Given the description of an element on the screen output the (x, y) to click on. 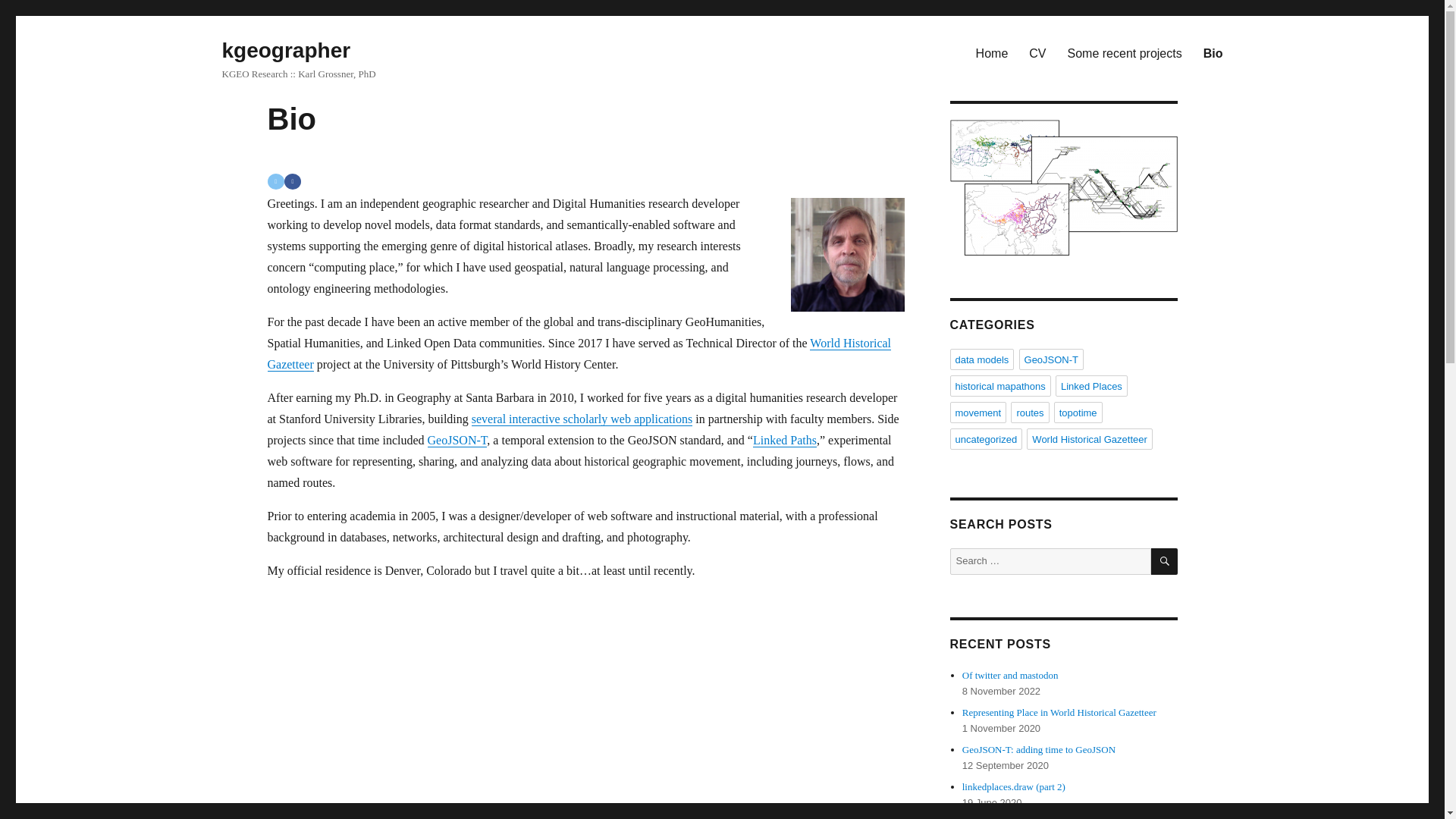
routes (1029, 412)
GeoJSON-T (1051, 359)
data models (981, 359)
World Historical Gazetteer (578, 353)
topotime (1078, 412)
Home (992, 52)
SEARCH (1164, 560)
kgeographer (285, 50)
CV (1037, 52)
Linked Paths (784, 440)
several interactive scholarly web applications (582, 418)
Twitter (274, 181)
Of twitter and mastodon (1010, 674)
movement (977, 412)
World Historical Gazetteer (1088, 438)
